Given the description of an element on the screen output the (x, y) to click on. 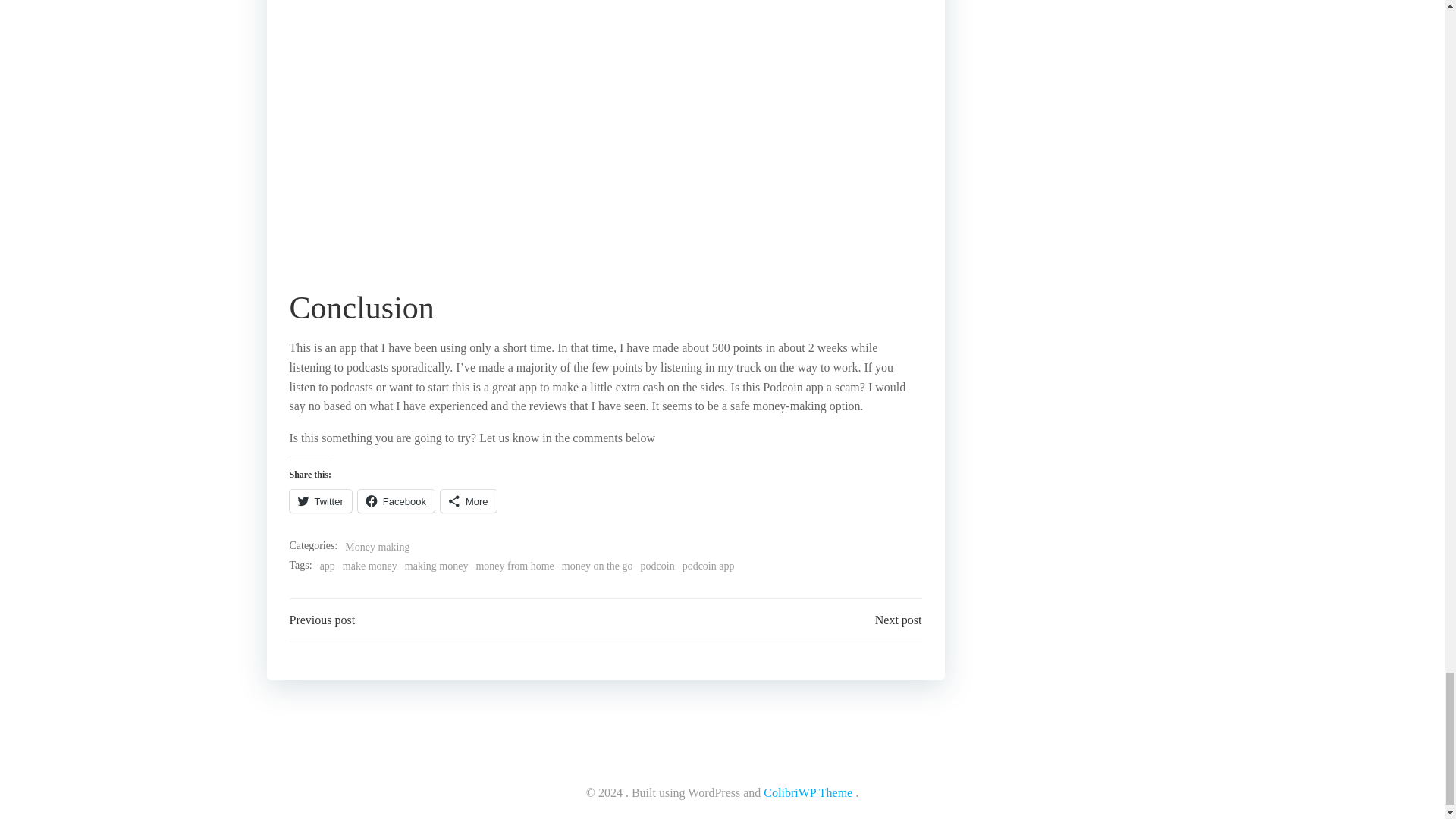
Click to share on Twitter (320, 500)
Tag: podcoin app (708, 565)
Tag: money on the go (597, 565)
Tag: app (327, 565)
Tag: podcoin (657, 565)
Tag: money from home (514, 565)
Click to share on Facebook (395, 500)
Tag: making money (436, 565)
Tag: make money (369, 565)
